Given the description of an element on the screen output the (x, y) to click on. 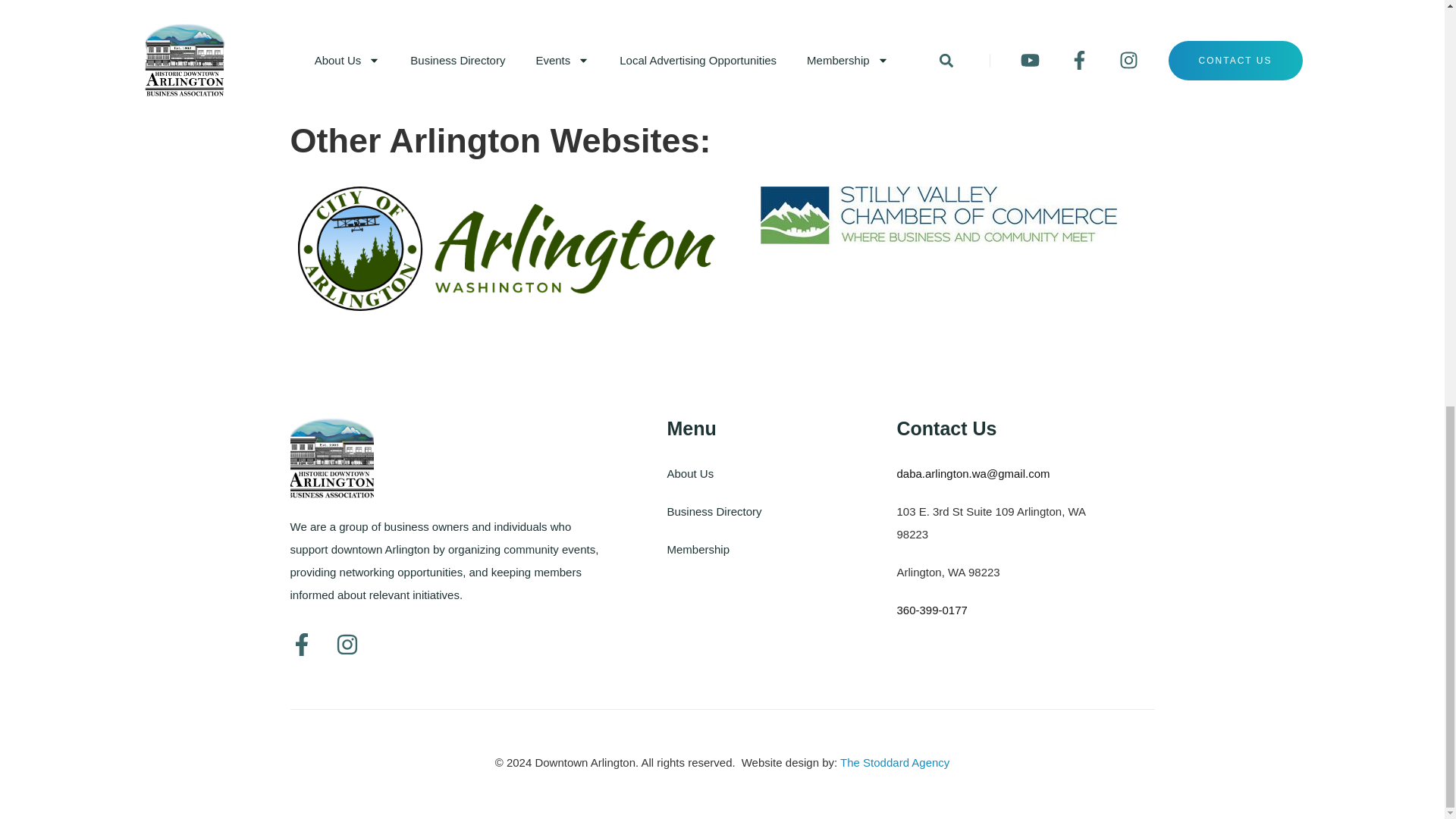
Snohomish County First 100 Years (721, 57)
